Given the description of an element on the screen output the (x, y) to click on. 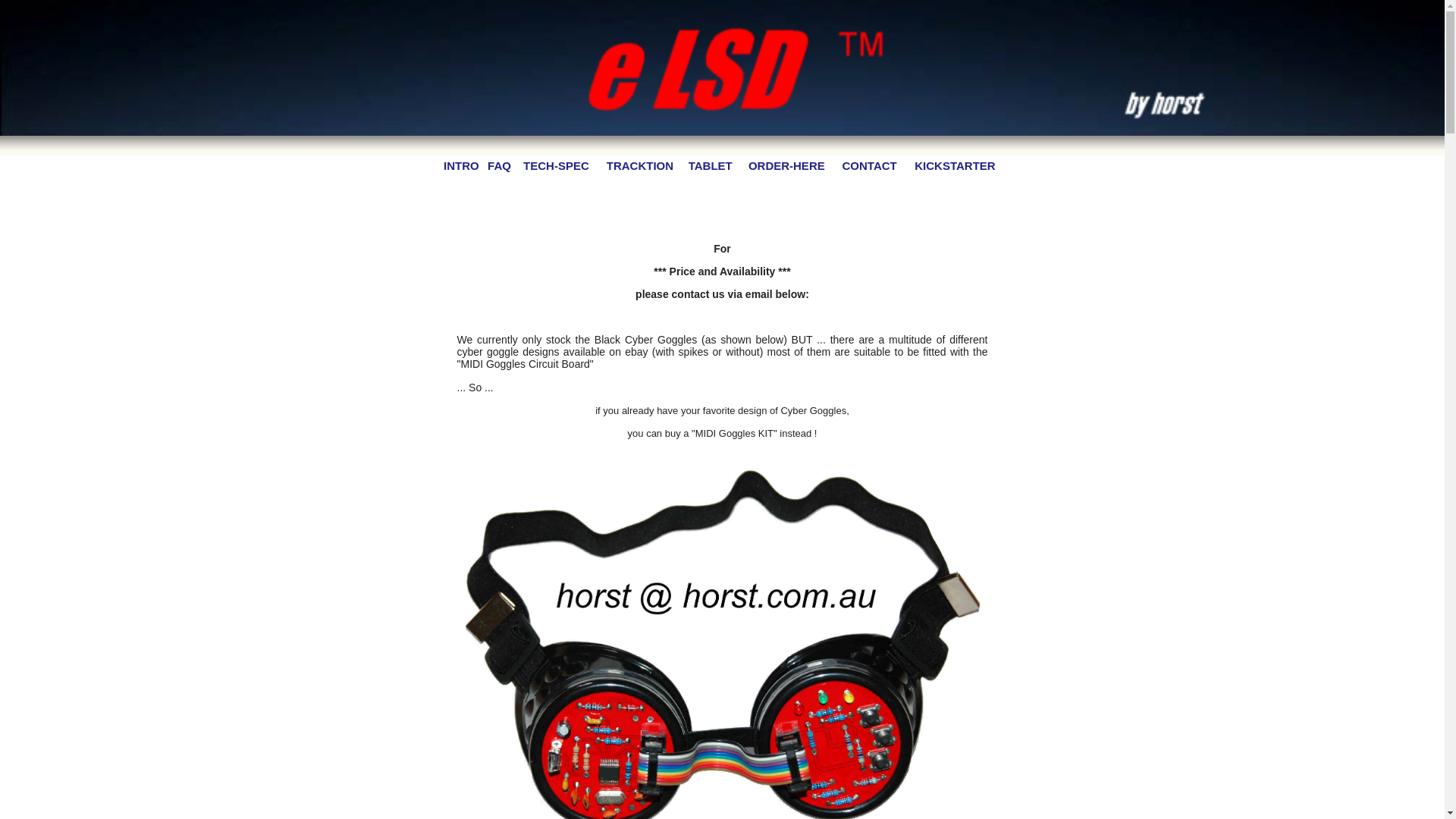
KICKSTARTER Element type: text (954, 165)
INTRO Element type: text (461, 165)
TECH-SPEC Element type: text (556, 165)
TRACKTION Element type: text (639, 165)
FAQ Element type: text (499, 165)
TABLET Element type: text (710, 165)
eLSD Element type: hover (722, 67)
ORDER-HERE Element type: text (786, 165)
CONTACT Element type: text (869, 165)
